Given the description of an element on the screen output the (x, y) to click on. 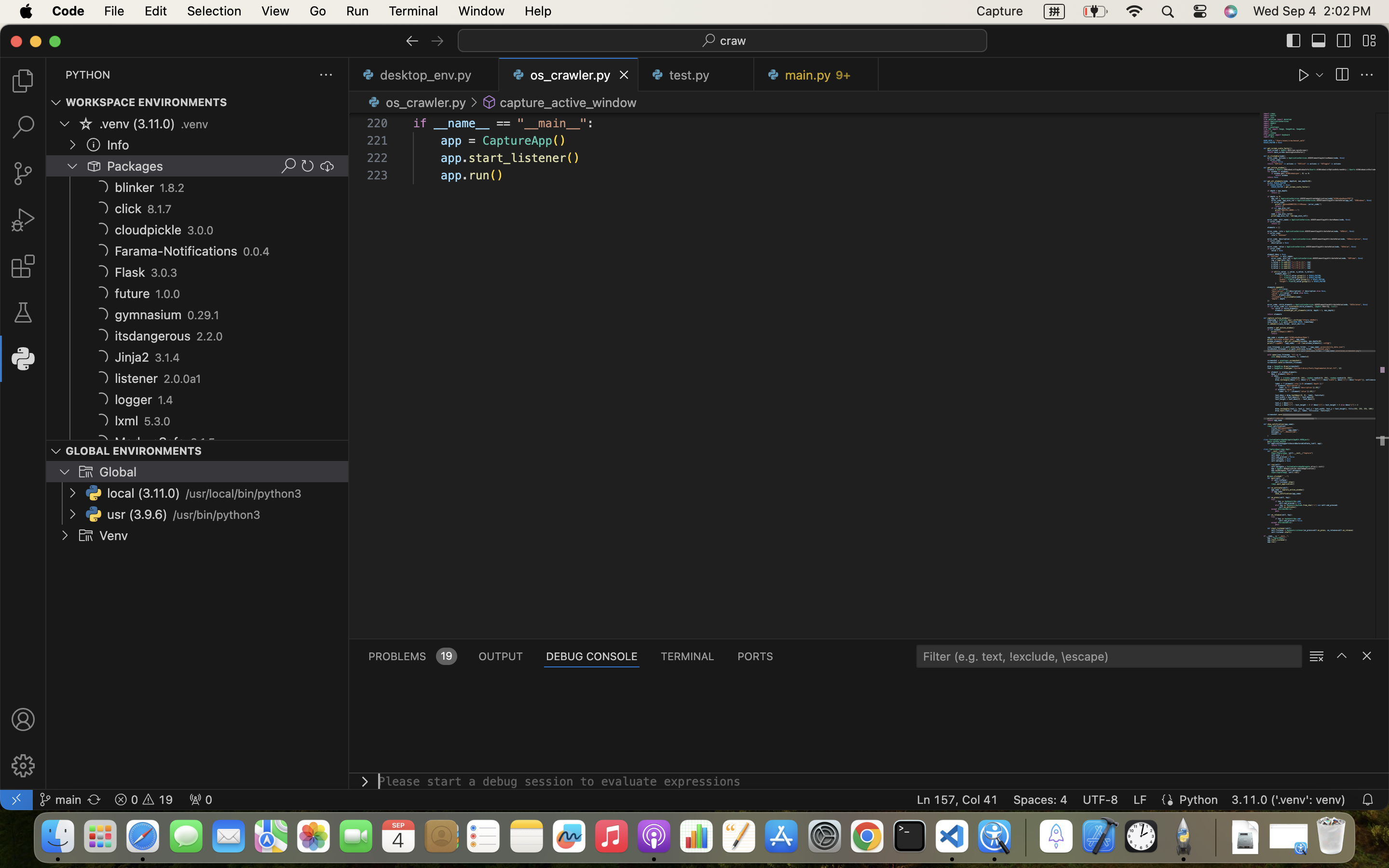
0  Element type: AXRadioButton (23, 127)
1.4 Element type: AXStaticText (165, 399)
 Element type: AXStaticText (93, 144)
Packages Element type: AXStaticText (135, 166)
/usr/bin/python3 Element type: AXStaticText (216, 514)
